Given the description of an element on the screen output the (x, y) to click on. 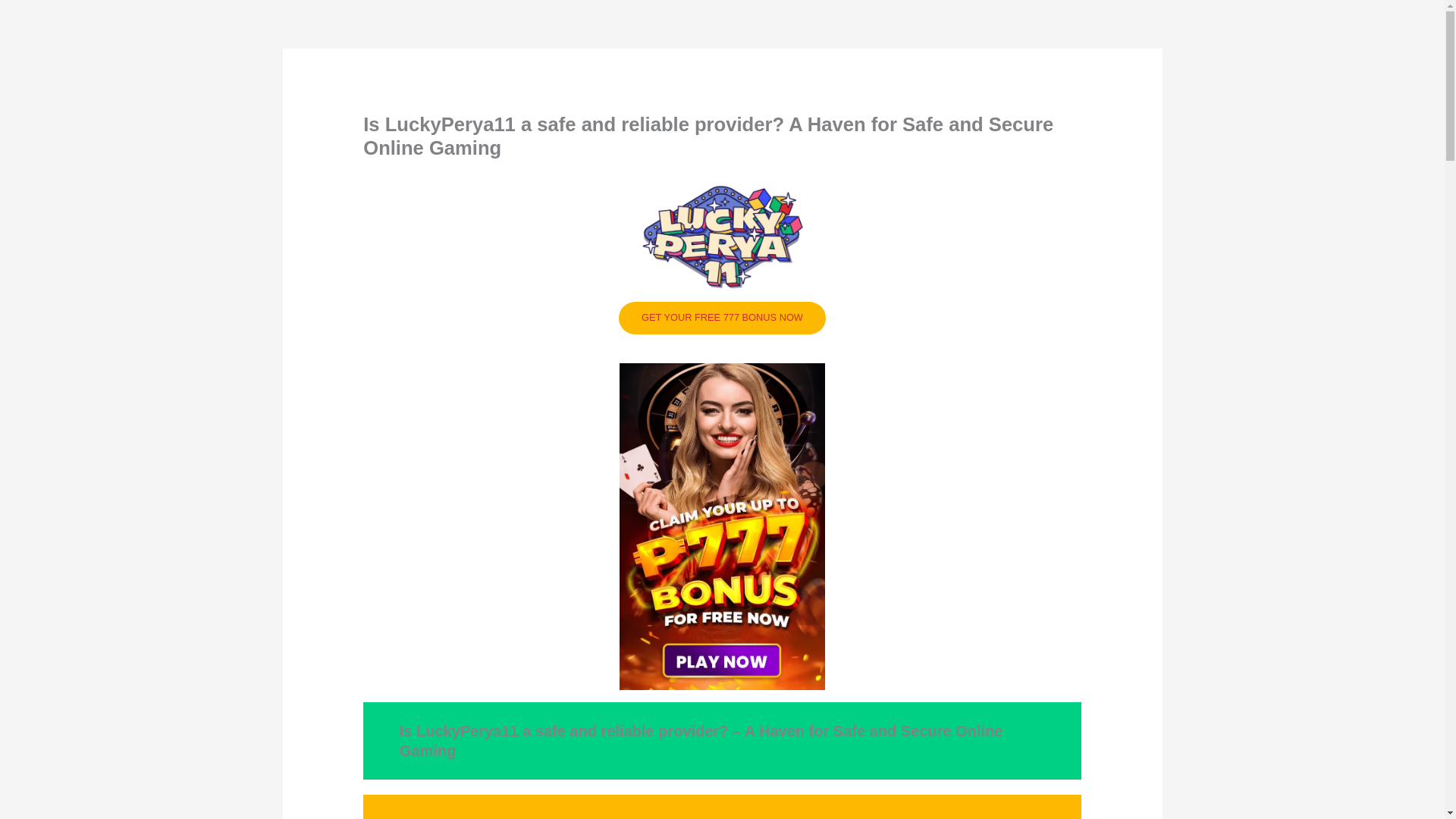
GET YOUR FREE 777 BONUS NOW (721, 318)
